Given the description of an element on the screen output the (x, y) to click on. 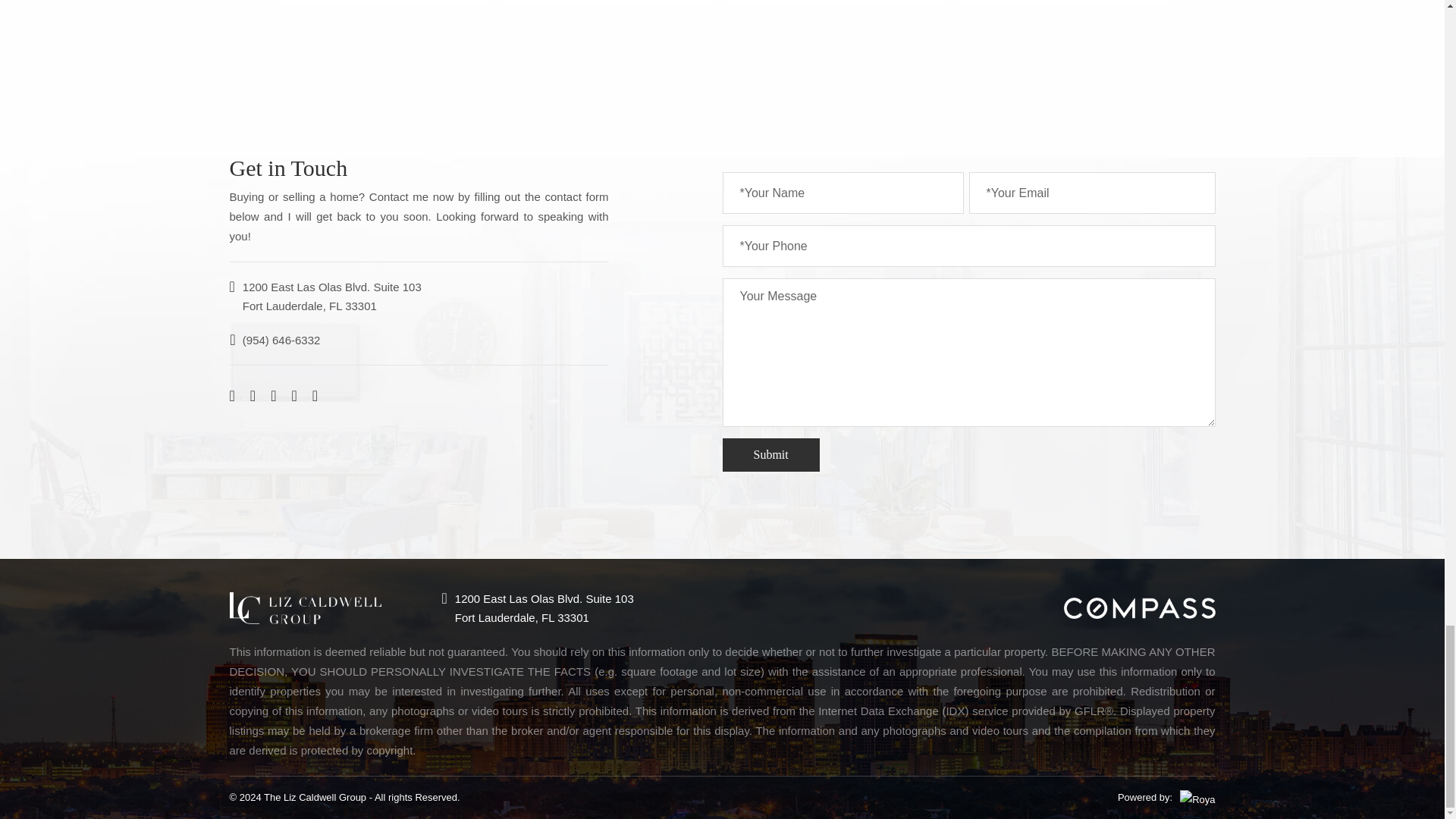
Submit (770, 454)
Roya (1196, 799)
